Given the description of an element on the screen output the (x, y) to click on. 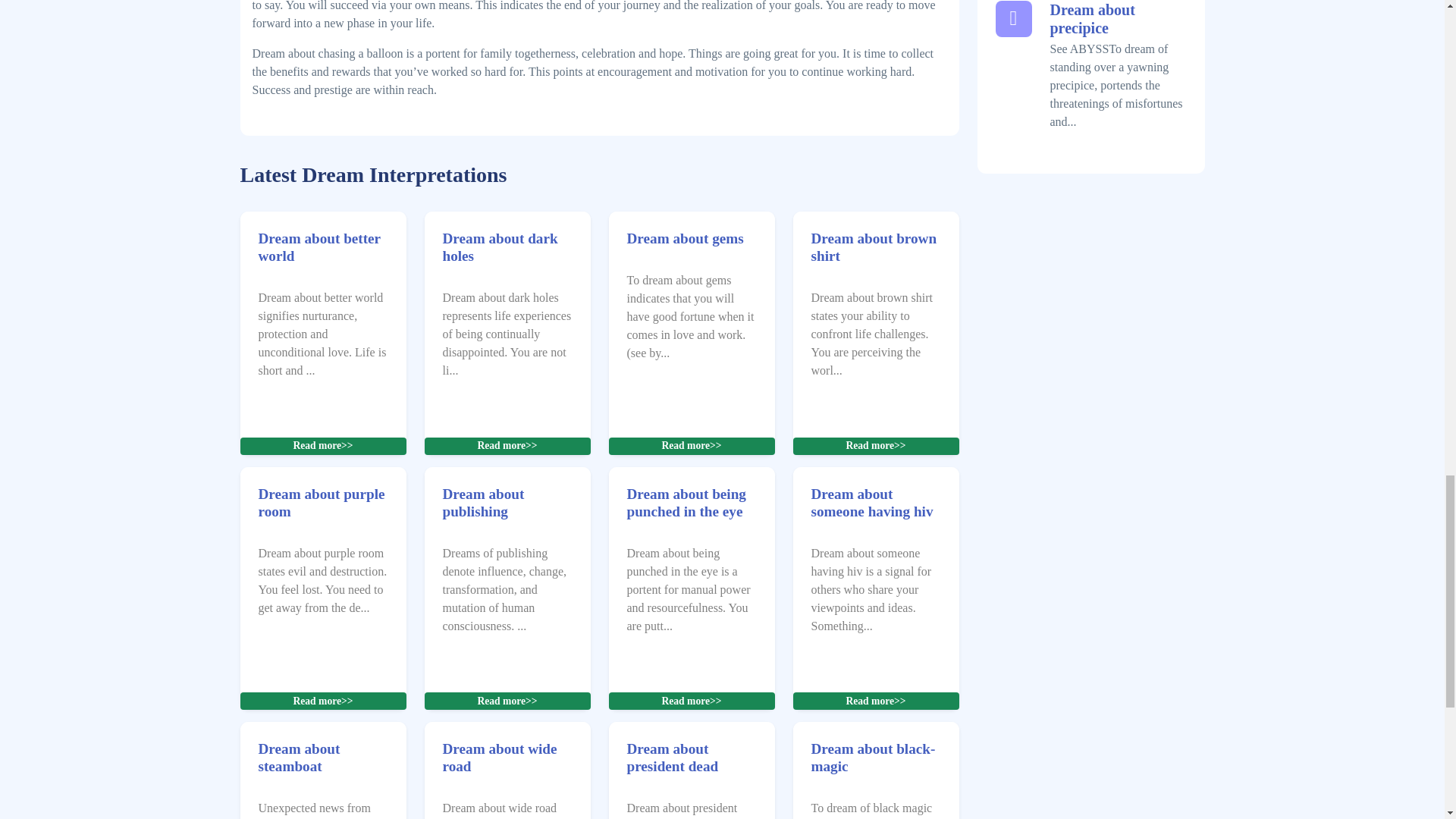
Dream about Better World (322, 445)
Dream about Gems (690, 445)
Dream Interpretation of Brown Shirt (873, 246)
Dream Interpretation of Gems (684, 238)
Dream Interpretation of Better World (318, 246)
Dream about Brown Shirt (875, 445)
Dream about Dark Holes (507, 445)
Dream Interpretation of Dark Holes (499, 246)
Dream Interpretation of Purple Room (320, 502)
